Given the description of an element on the screen output the (x, y) to click on. 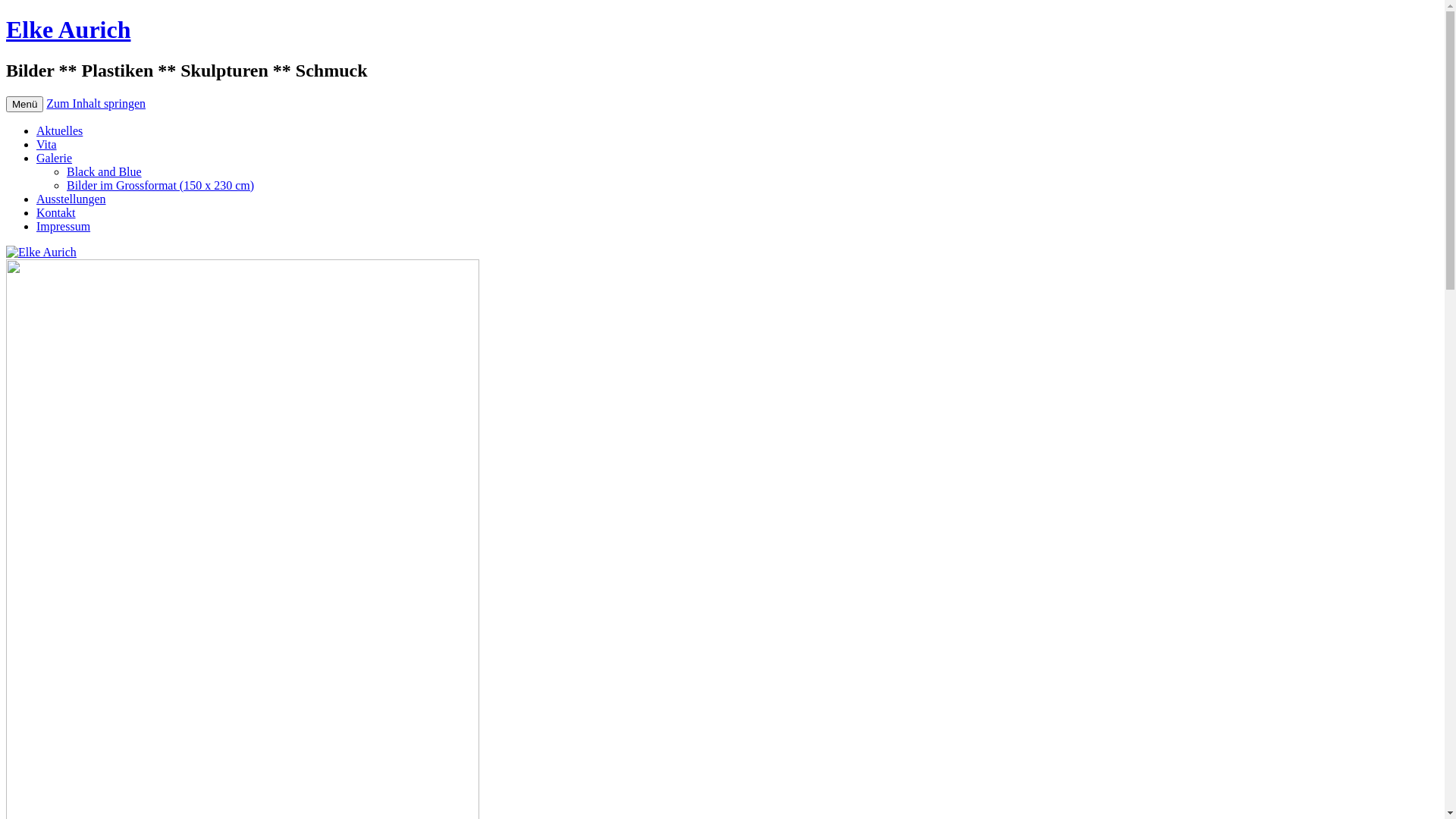
Elke Aurich Element type: text (68, 29)
Vita Element type: text (46, 144)
Impressum Element type: text (63, 225)
Bilder im Grossformat (150 x 230 cm) Element type: text (160, 184)
Kontakt Element type: text (55, 212)
Black and Blue Element type: text (103, 171)
Ausstellungen Element type: text (71, 198)
Galerie Element type: text (54, 157)
Aktuelles Element type: text (59, 130)
Zum Inhalt springen Element type: text (95, 103)
